Given the description of an element on the screen output the (x, y) to click on. 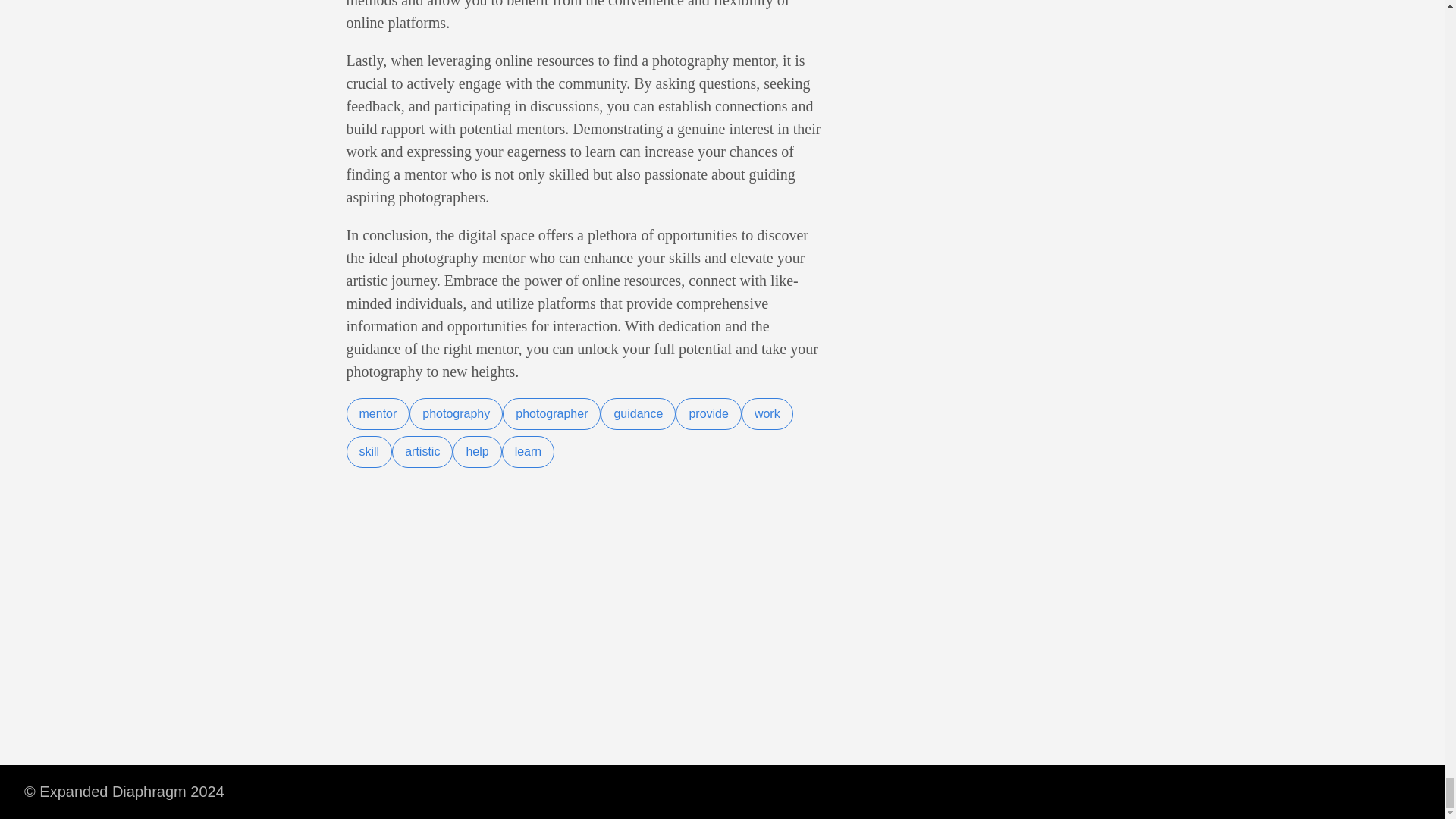
help (476, 451)
mentor (377, 413)
photographer (550, 413)
photography (455, 413)
artistic (421, 451)
skill (368, 451)
learn (528, 451)
guidance (637, 413)
work (767, 413)
provide (708, 413)
